Given the description of an element on the screen output the (x, y) to click on. 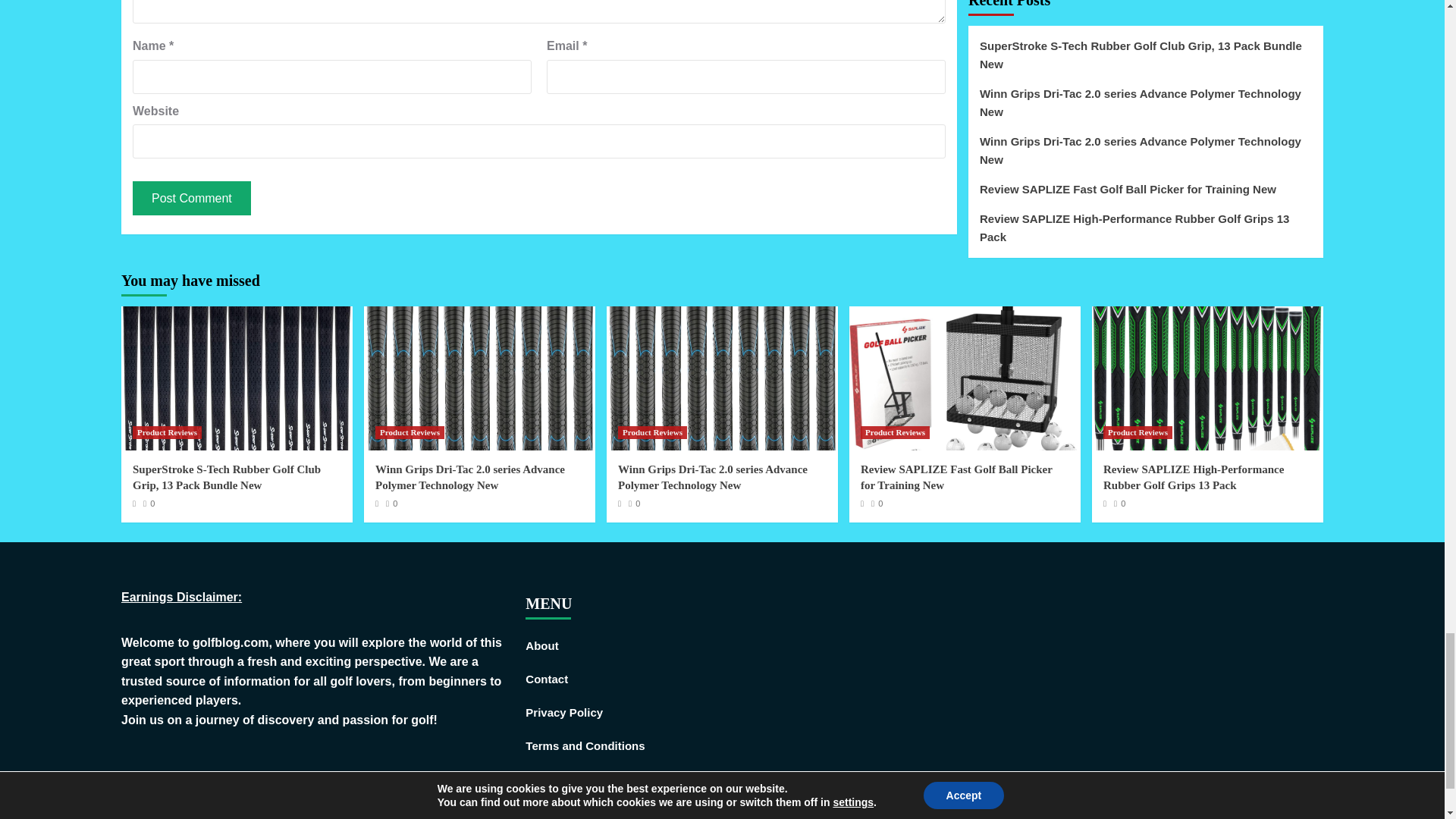
Post Comment (191, 197)
